Given the description of an element on the screen output the (x, y) to click on. 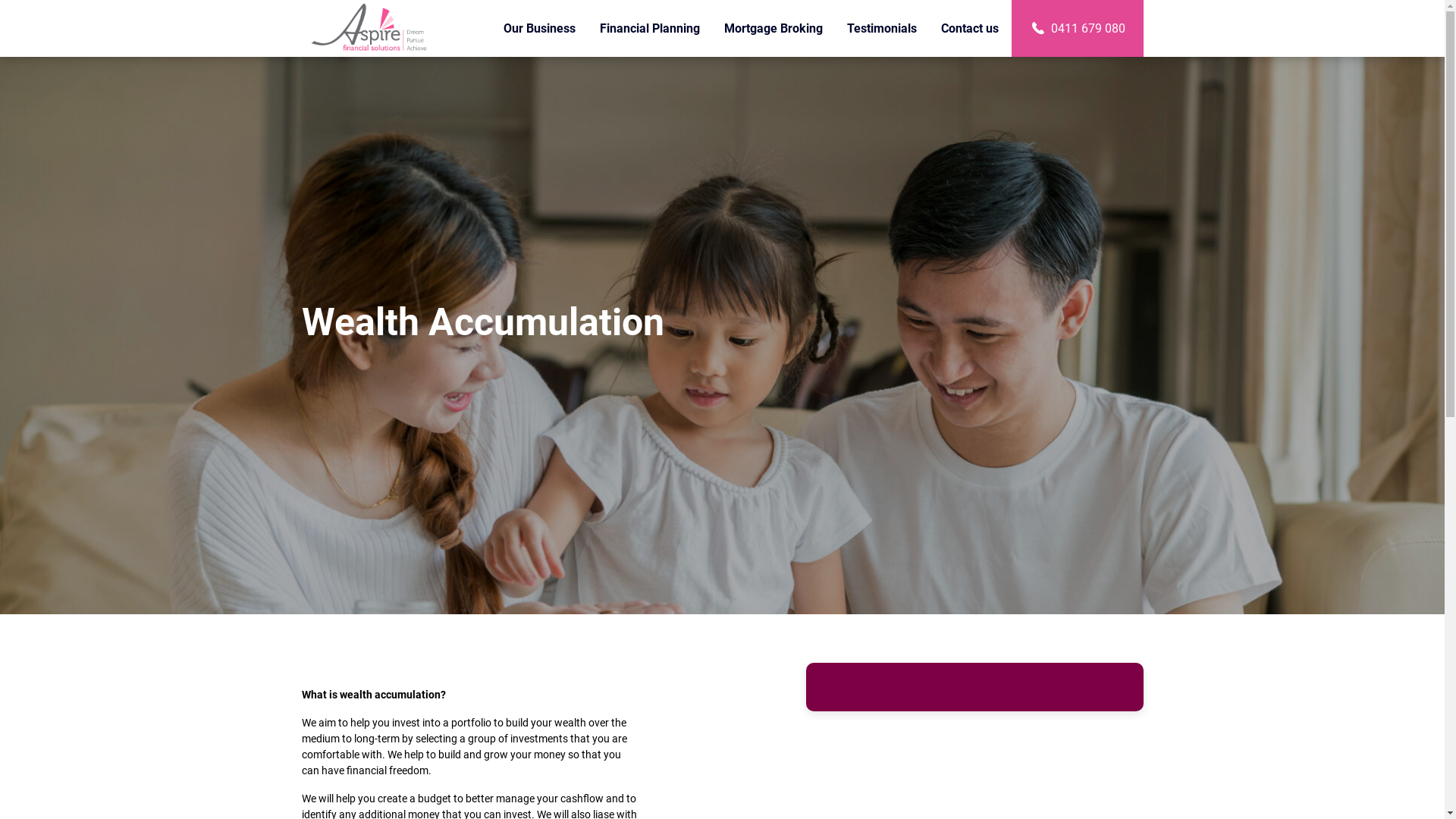
Our Business Element type: text (539, 28)
Contact us Element type: text (969, 28)
Financial Planning Element type: text (649, 28)
0411 679 080 Element type: text (1076, 28)
Testimonials Element type: text (881, 28)
Mortgage Broking Element type: text (773, 28)
